Given the description of an element on the screen output the (x, y) to click on. 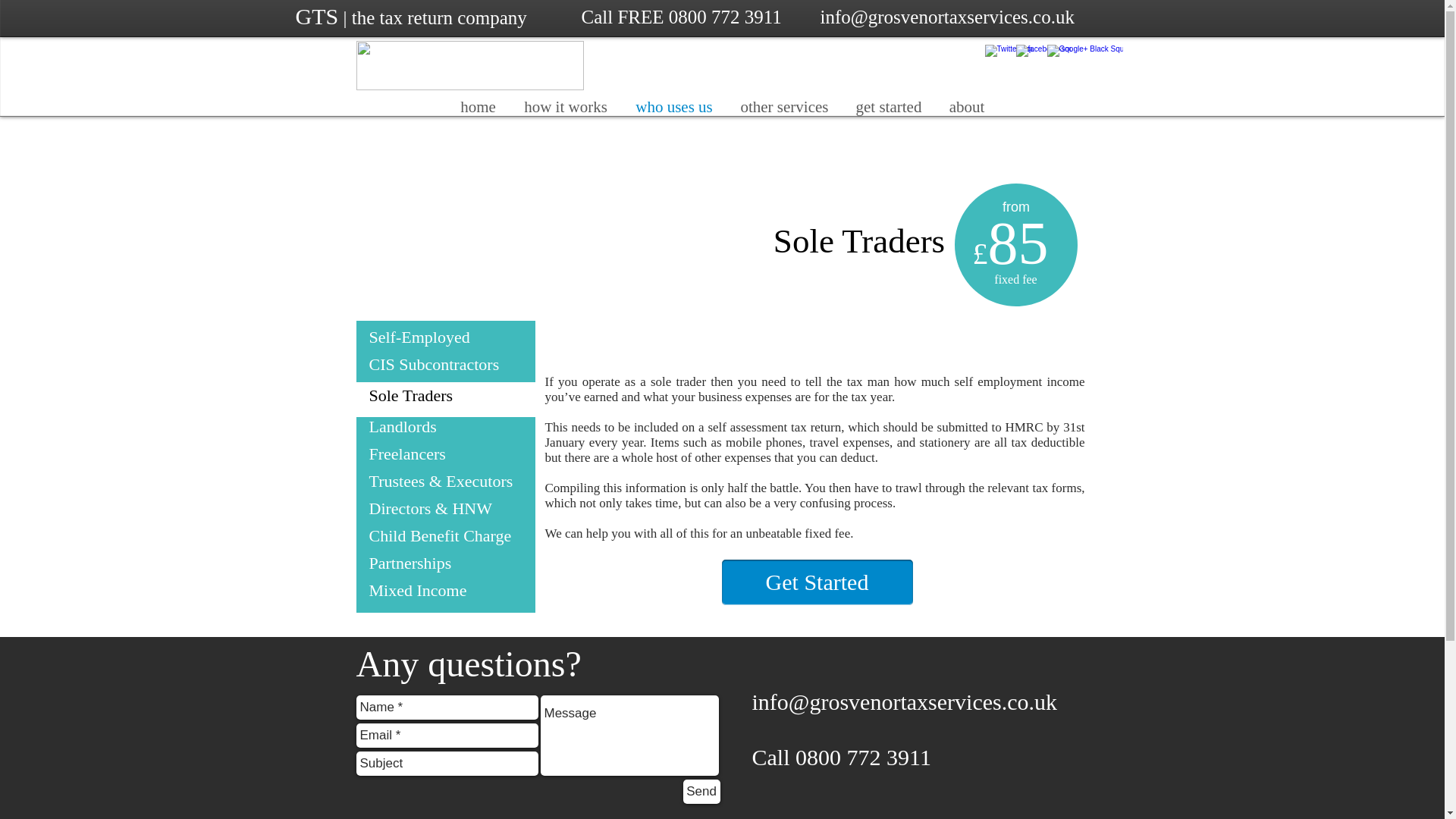
other services (783, 107)
Landlords (401, 425)
get started (887, 107)
Freelancers (406, 453)
CIS Subcontractors (433, 363)
how it works (565, 107)
Self-Employed (418, 336)
who uses us (673, 107)
home (477, 107)
